Given the description of an element on the screen output the (x, y) to click on. 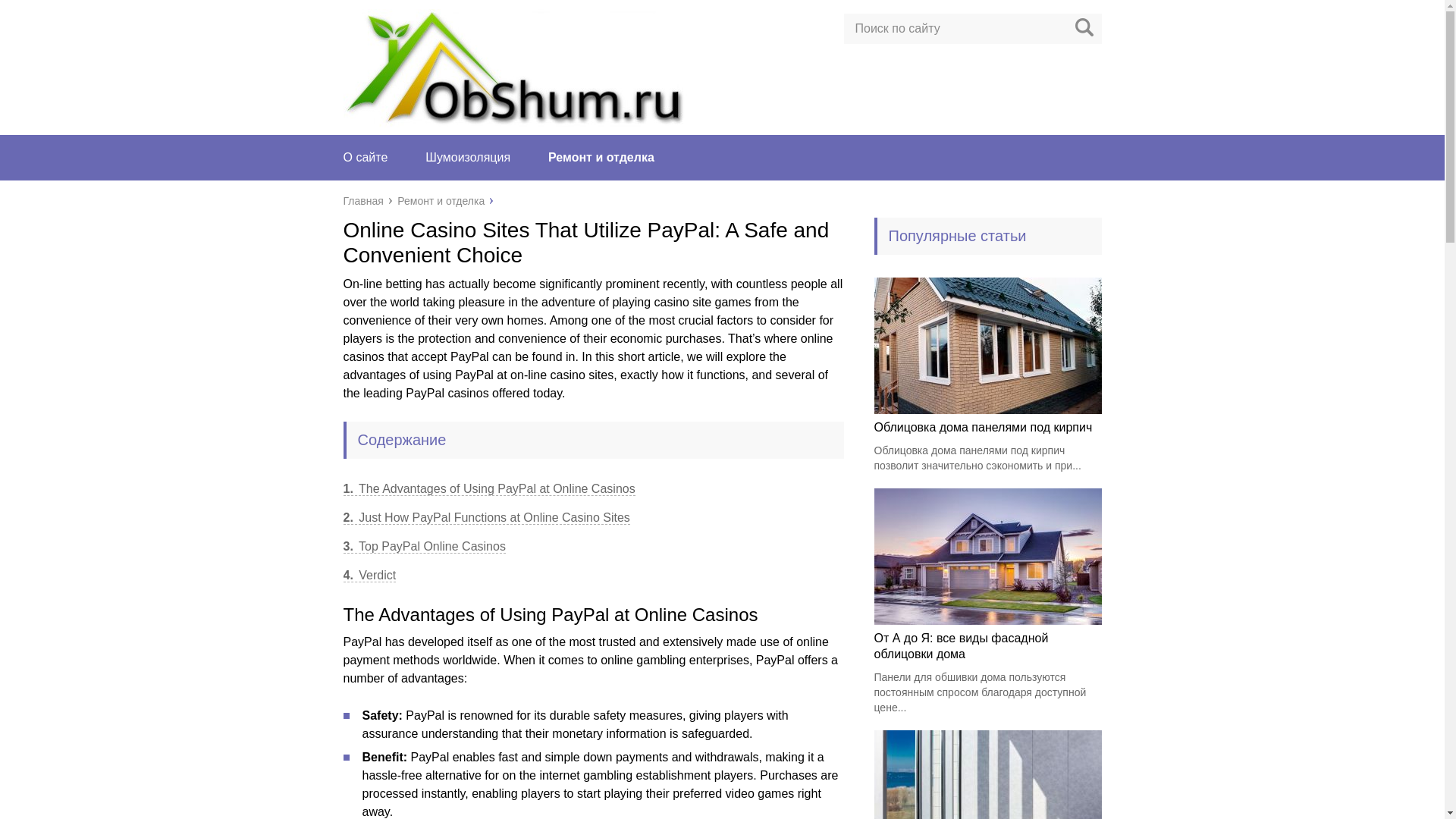
3 Top PayPal Online Casinos (423, 546)
1 The Advantages of Using PayPal at Online Casinos (488, 489)
2 Just How PayPal Functions at Online Casino Sites (485, 517)
4 Verdict (369, 575)
